Given the description of an element on the screen output the (x, y) to click on. 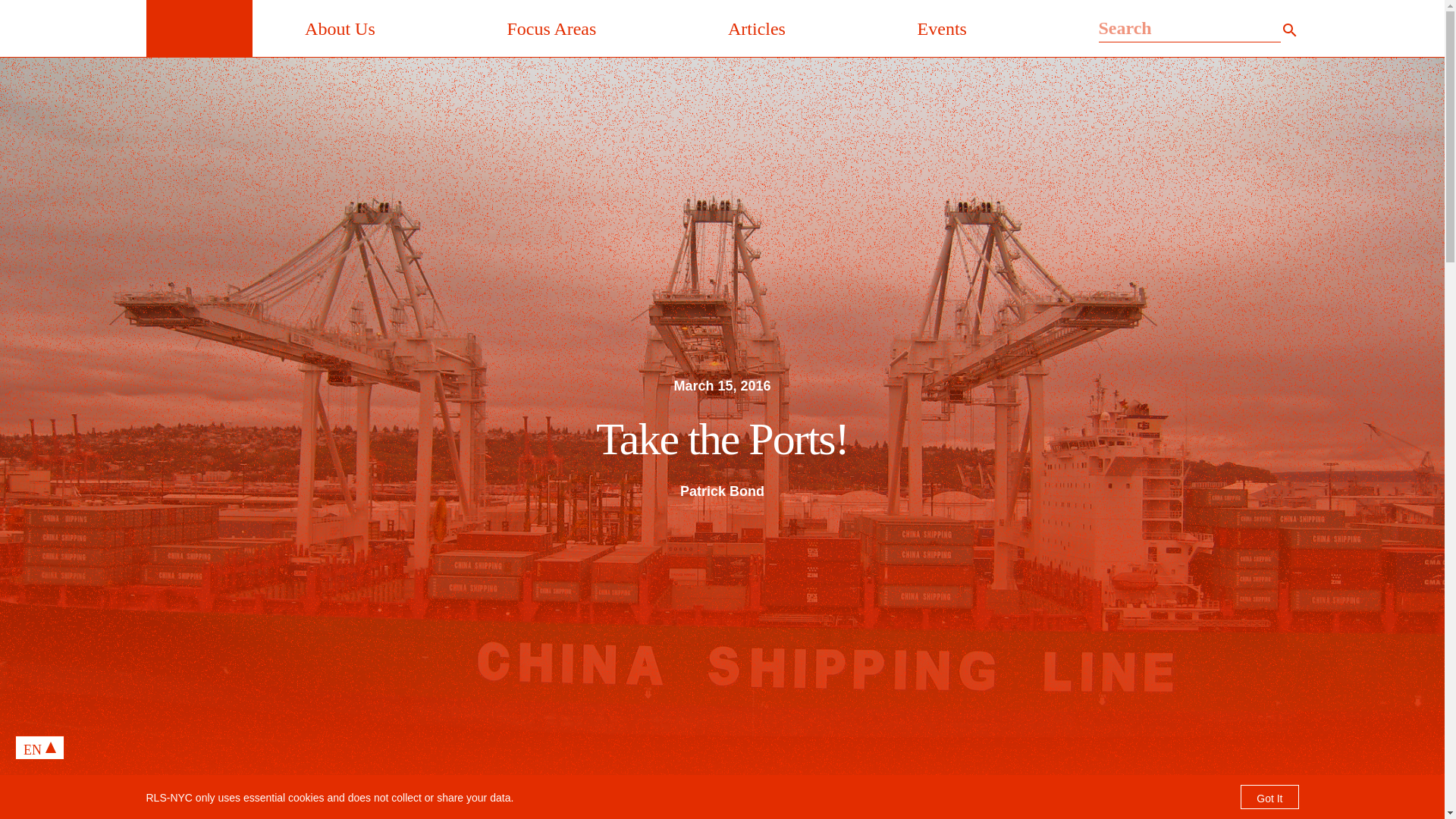
Articles (757, 27)
About Us (339, 27)
Search (1188, 28)
Focus Areas (550, 27)
Events (941, 27)
Patrick Bond (722, 490)
